Given the description of an element on the screen output the (x, y) to click on. 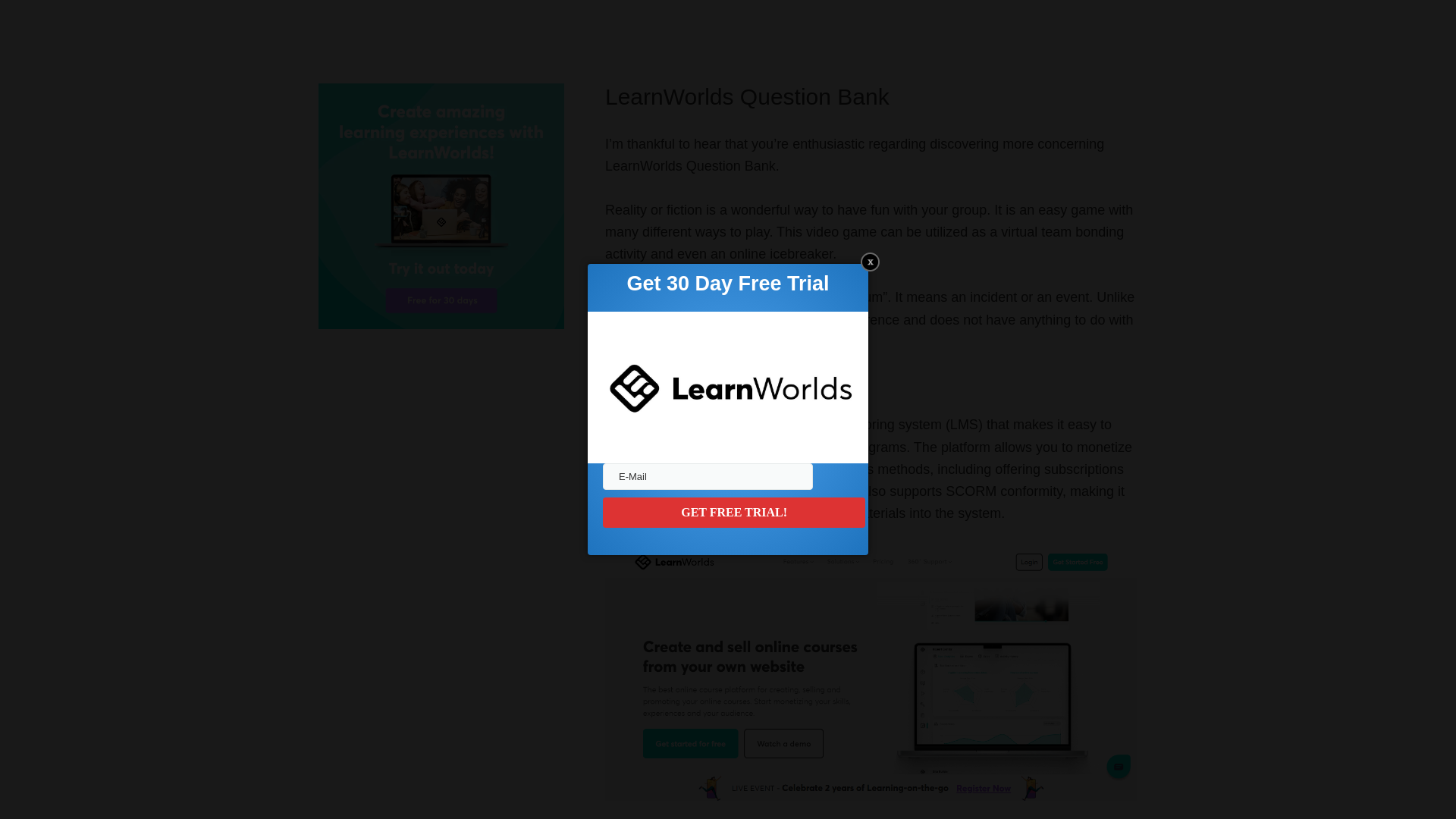
GET FREE TRIAL! (733, 512)
GET FREE TRIAL! (733, 512)
